Given the description of an element on the screen output the (x, y) to click on. 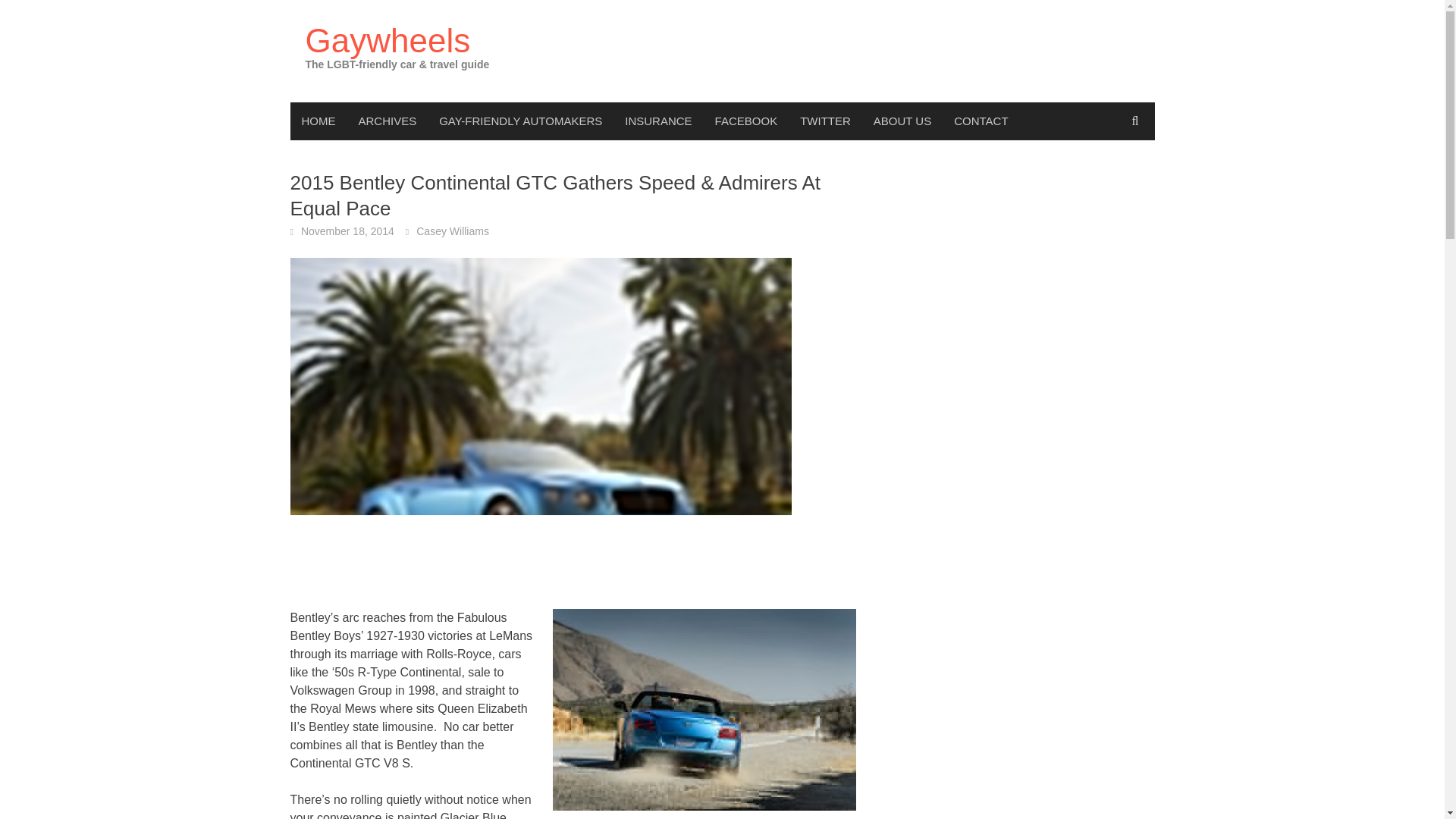
ARCHIVES (387, 121)
ABOUT US (901, 121)
GAY-FRIENDLY AUTOMAKERS (520, 121)
Casey Williams (452, 231)
HOME (317, 121)
November 18, 2014 (347, 231)
INSURANCE (657, 121)
Gaywheels (387, 40)
TWITTER (825, 121)
FACEBOOK (746, 121)
CONTACT (980, 121)
